Given the description of an element on the screen output the (x, y) to click on. 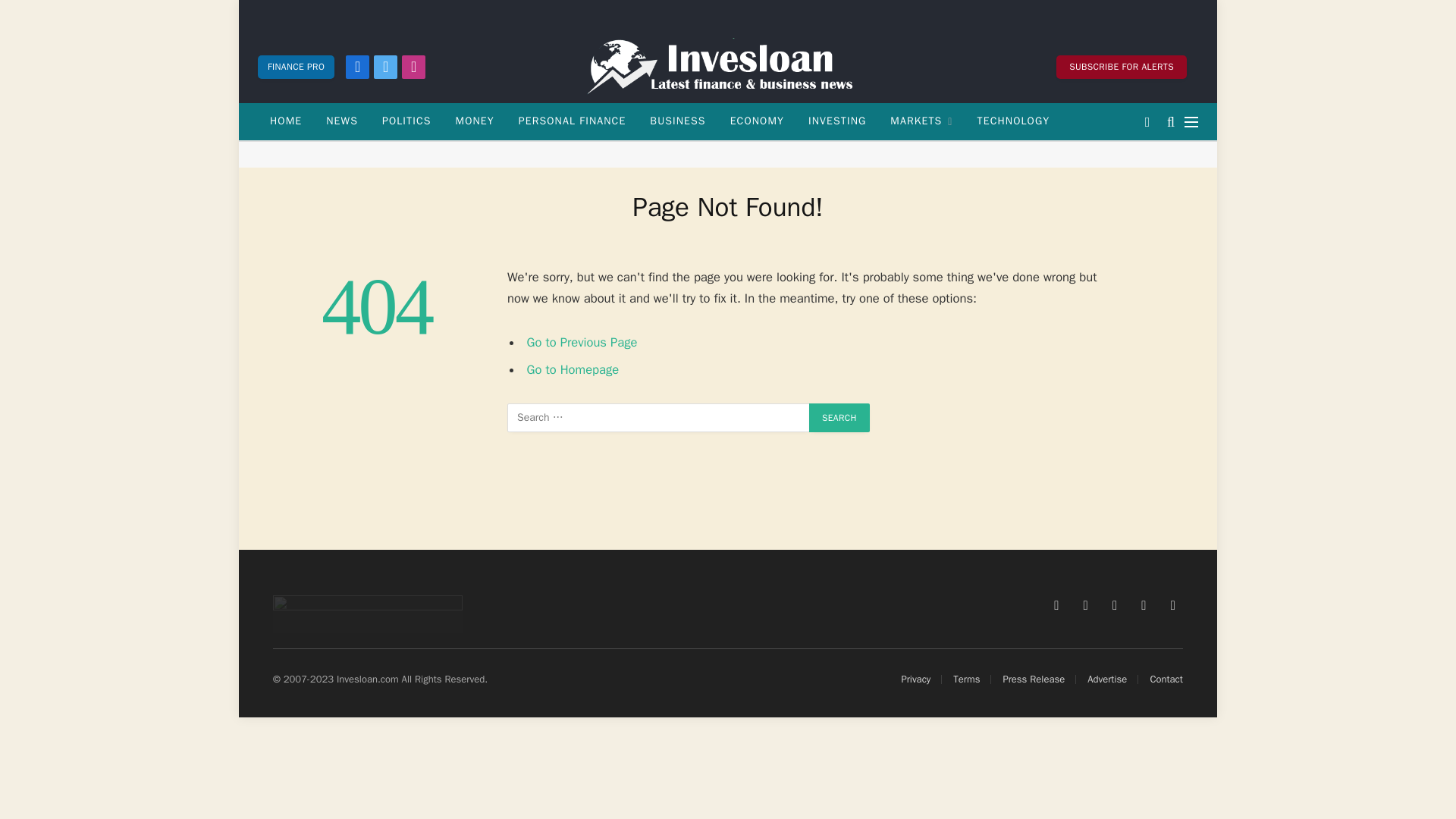
Search (839, 417)
invesloan.com (727, 66)
INVESTING (836, 121)
Switch to Dark Design - easier on eyes. (1147, 121)
Go to Homepage (573, 368)
Search (839, 417)
SUBSCRIBE FOR ALERTS (1121, 65)
Facebook (357, 65)
Search (839, 417)
FINANCE PRO (295, 65)
